Given the description of an element on the screen output the (x, y) to click on. 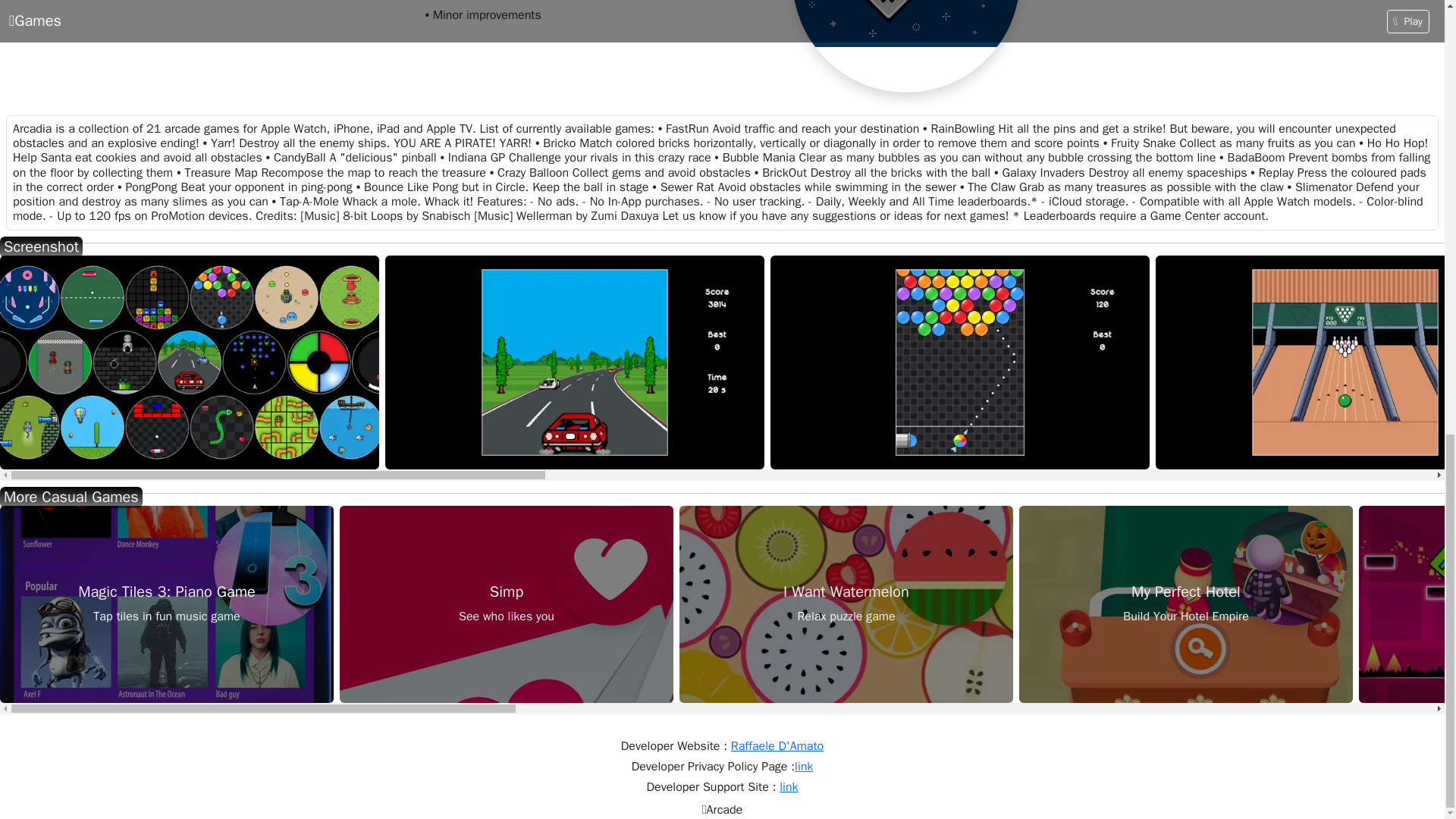
Logo (905, 46)
screenshot0 (189, 361)
Logo (270, 568)
Logo (505, 604)
screenshot1 (1185, 604)
Logo (166, 604)
Logo (950, 568)
